Given the description of an element on the screen output the (x, y) to click on. 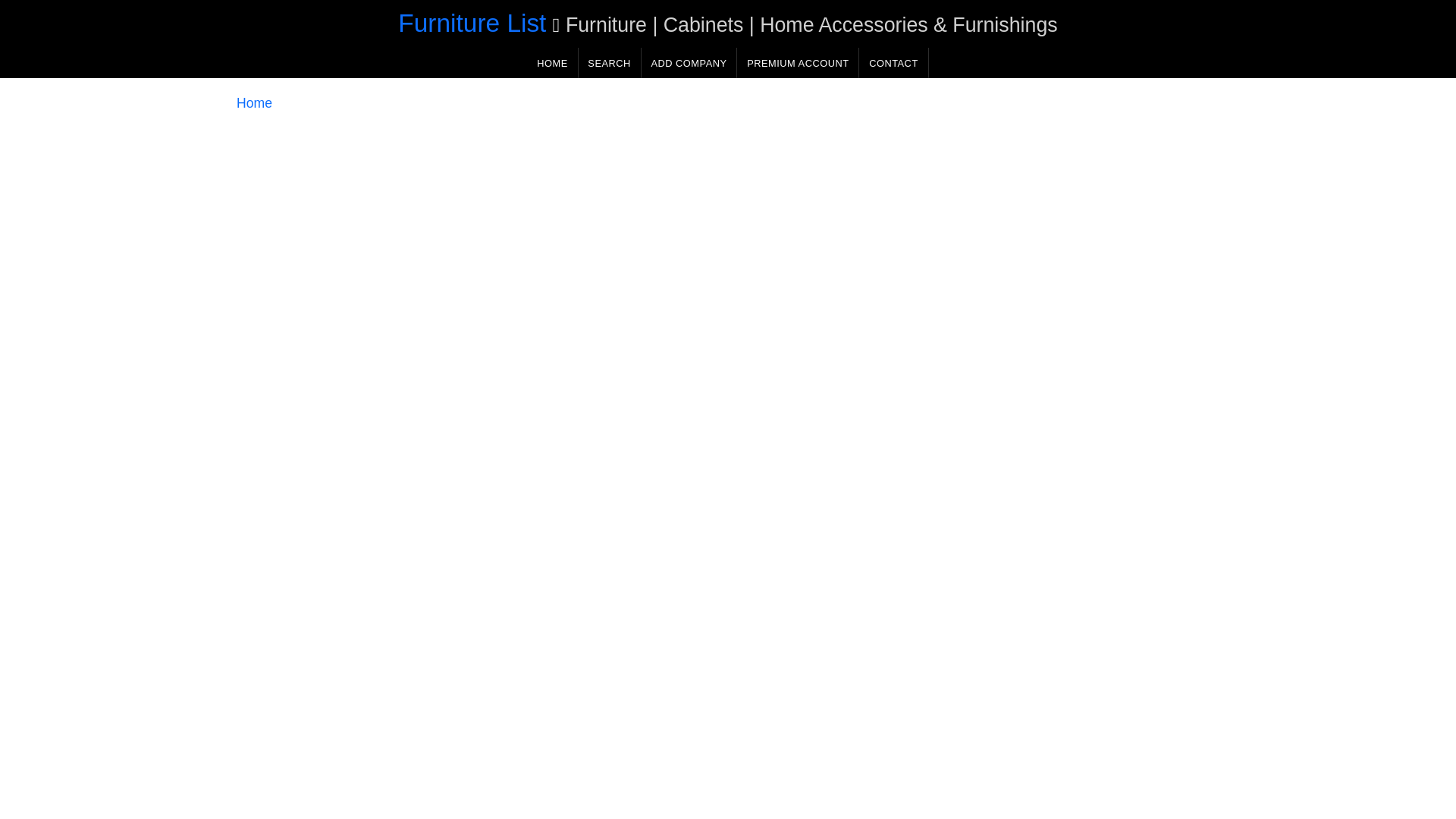
Add a new company (689, 62)
Premium account (797, 62)
CONTACT (893, 62)
Search in this webseite. (609, 62)
Home (253, 102)
Furniture List (471, 22)
ADD COMPANY (689, 62)
PREMIUM ACCOUNT (797, 62)
HOME (551, 62)
SEARCH (609, 62)
